Given the description of an element on the screen output the (x, y) to click on. 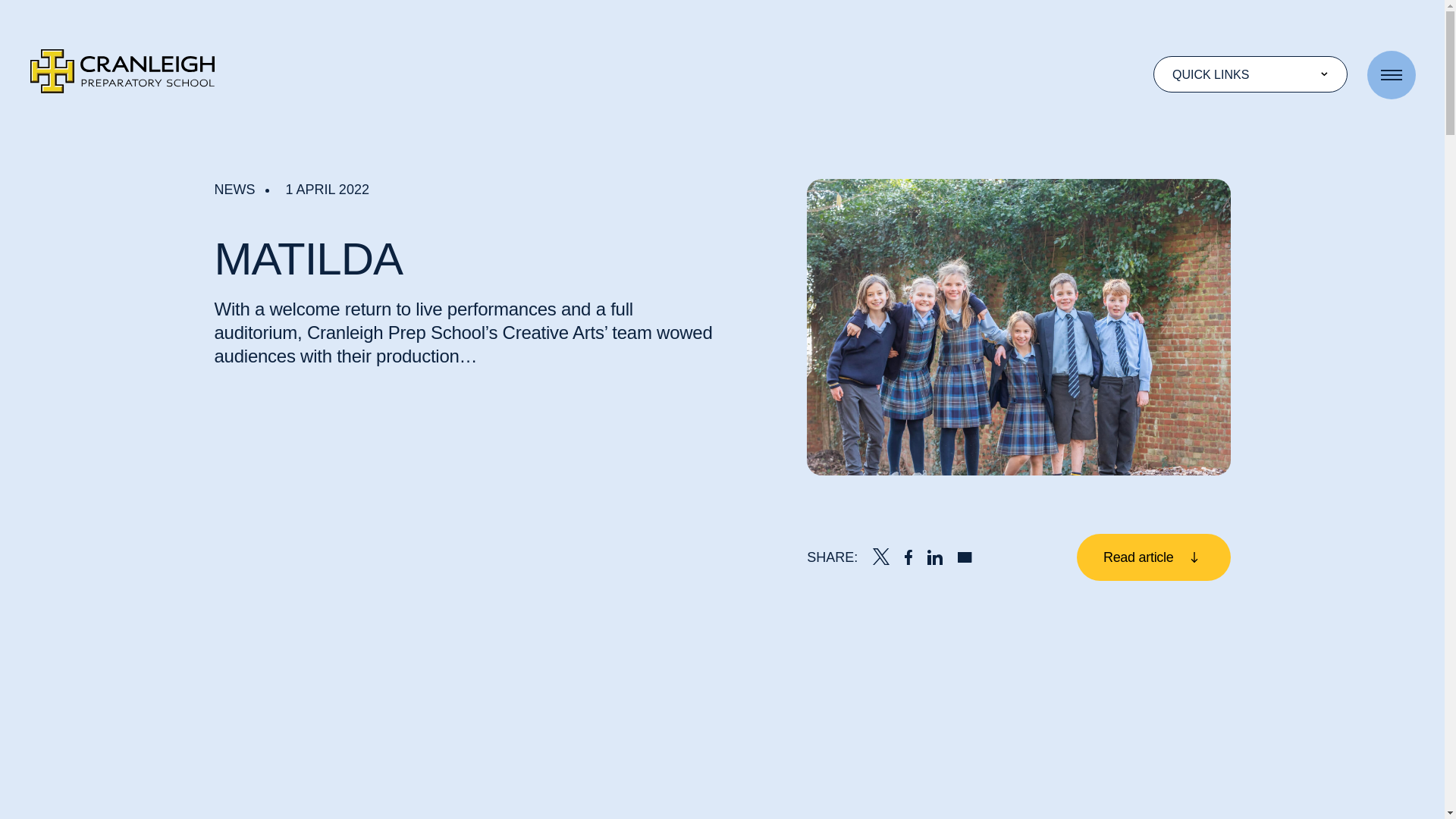
Read article (1153, 556)
